Given the description of an element on the screen output the (x, y) to click on. 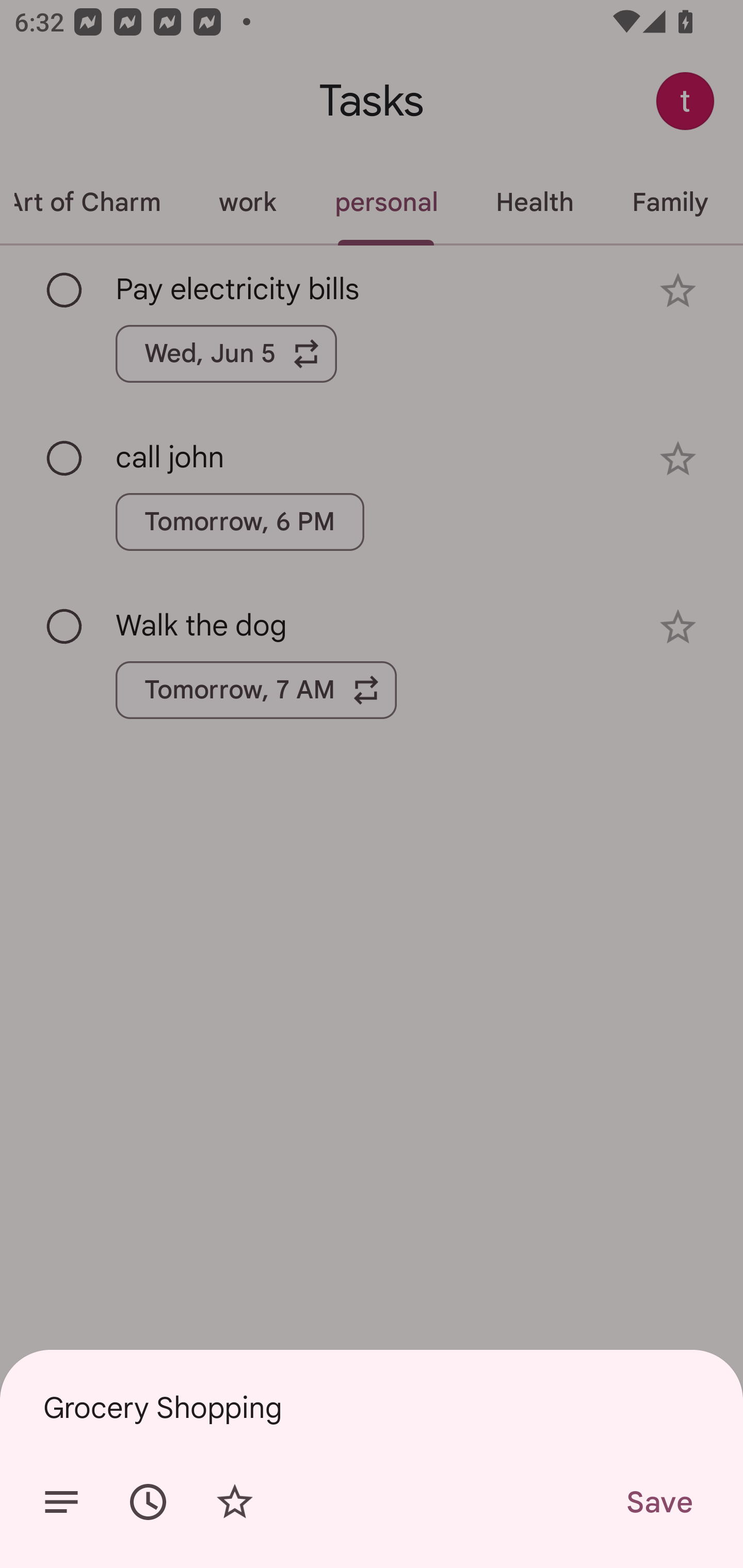
Grocery Shopping (371, 1407)
Save (659, 1501)
Add details (60, 1501)
Set date/time (147, 1501)
Add star (234, 1501)
